Given the description of an element on the screen output the (x, y) to click on. 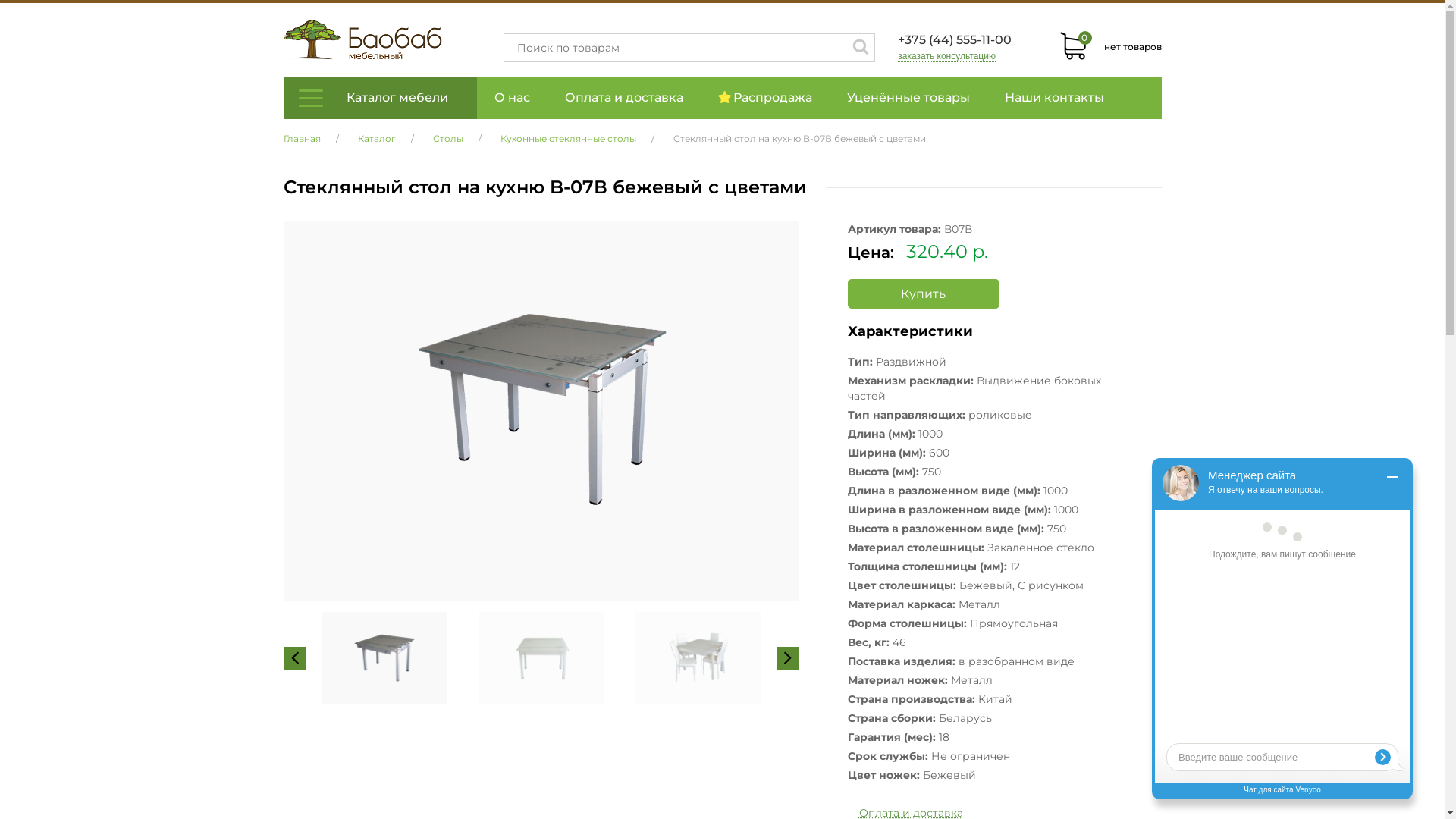
+375 (44) 555-11-00 Element type: text (954, 38)
